Given the description of an element on the screen output the (x, y) to click on. 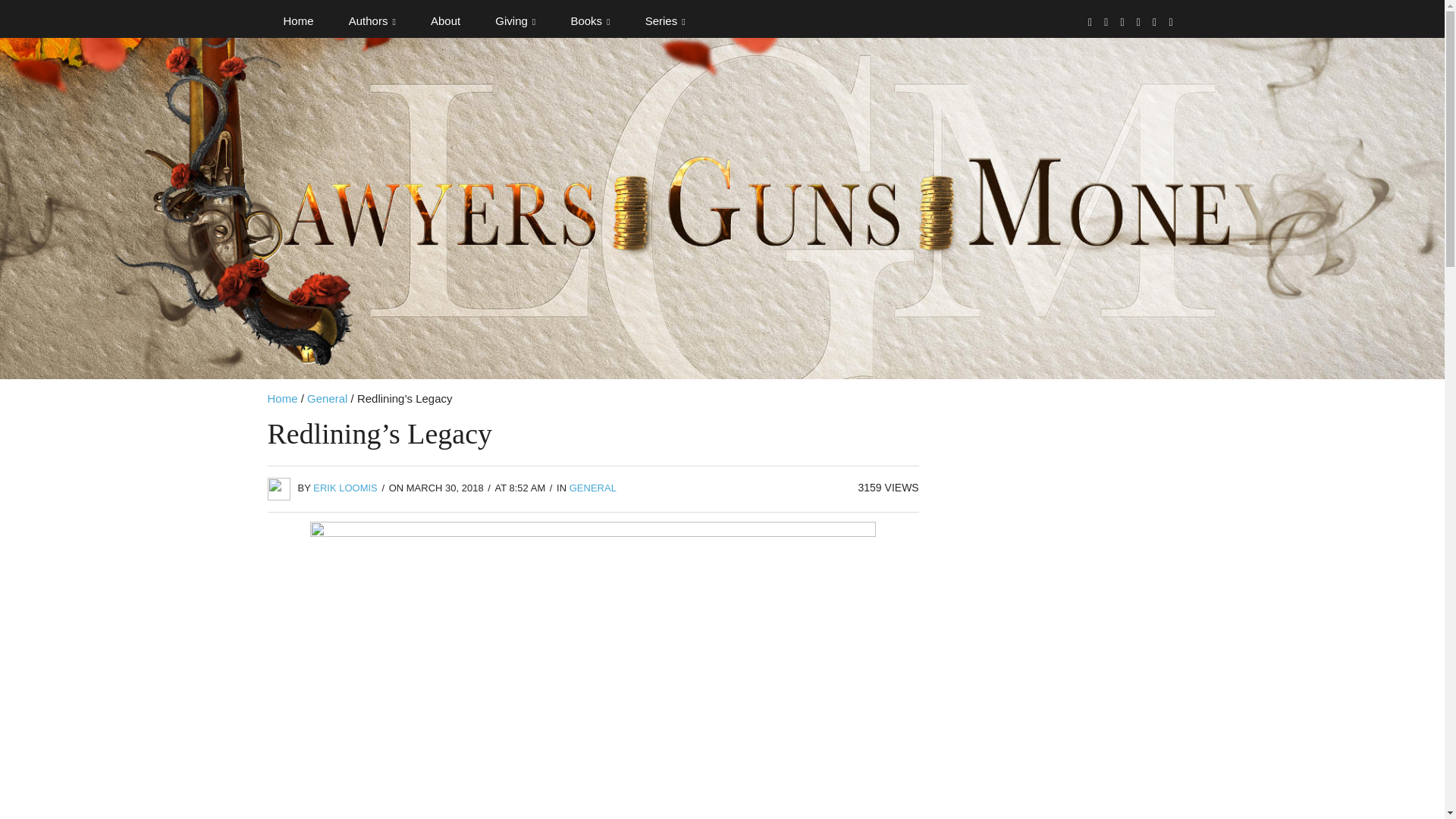
Home (297, 21)
Authors (372, 21)
Giving (515, 21)
Books (590, 21)
About (445, 21)
Posts by Erik Loomis (345, 487)
